Given the description of an element on the screen output the (x, y) to click on. 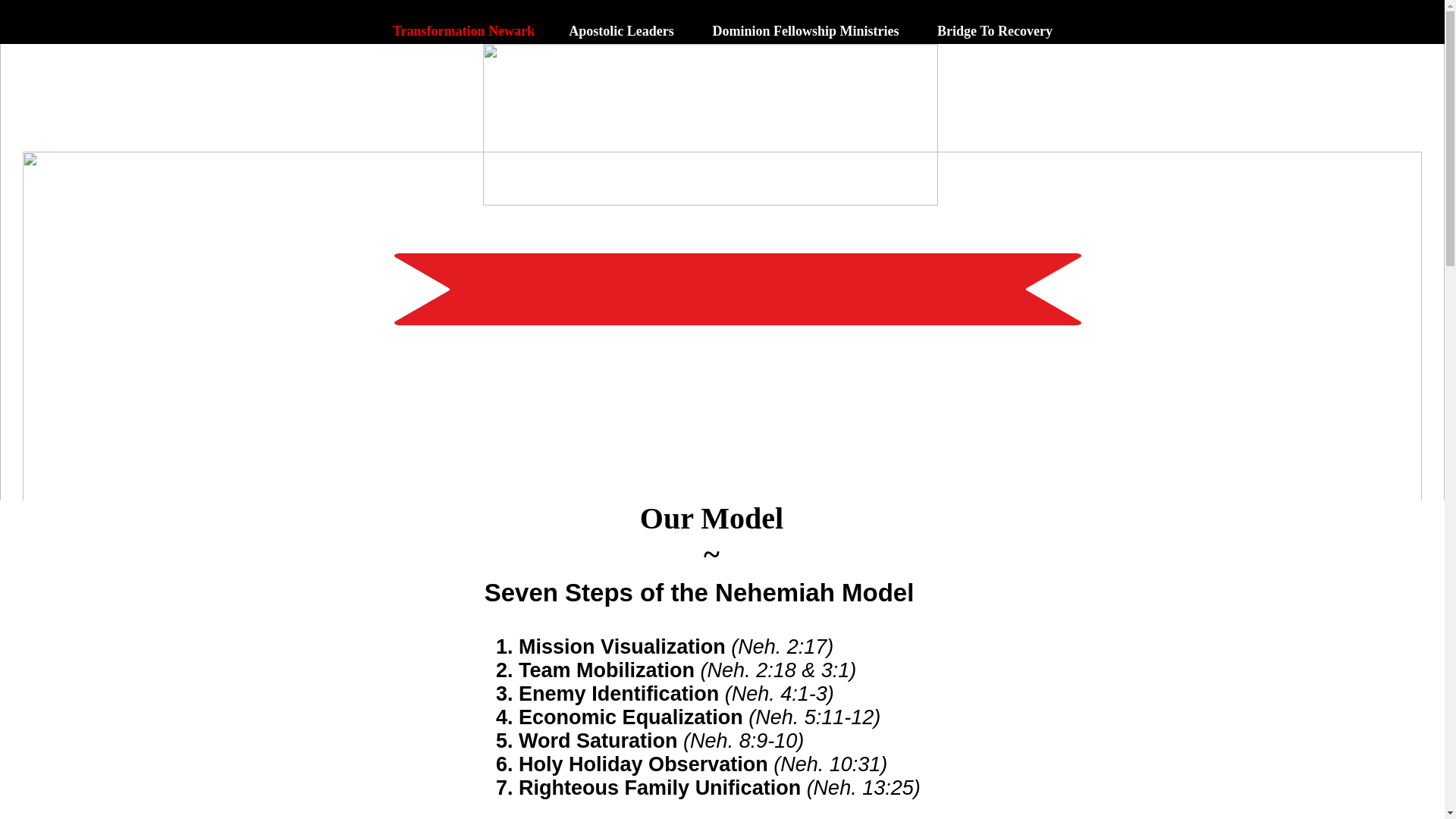
Bridge To Recovery (994, 24)
Transformation Newark (462, 24)
Dominion Fellowship Ministries (805, 24)
Apostolic Leaders (620, 24)
